Given the description of an element on the screen output the (x, y) to click on. 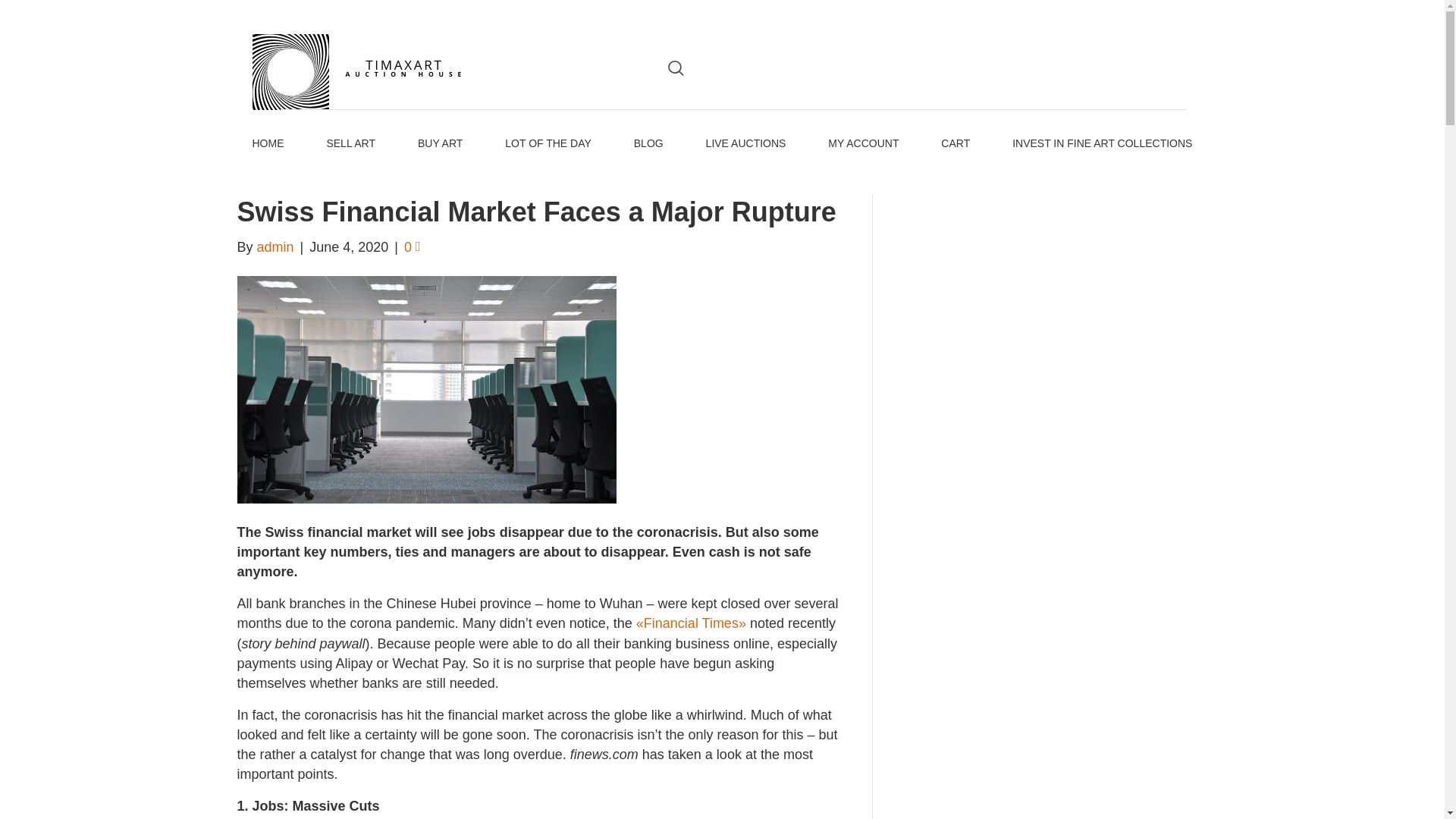
SELL ART (350, 143)
LOT OF THE DAY (547, 143)
BUY ART (440, 143)
HOME (267, 143)
